Given the description of an element on the screen output the (x, y) to click on. 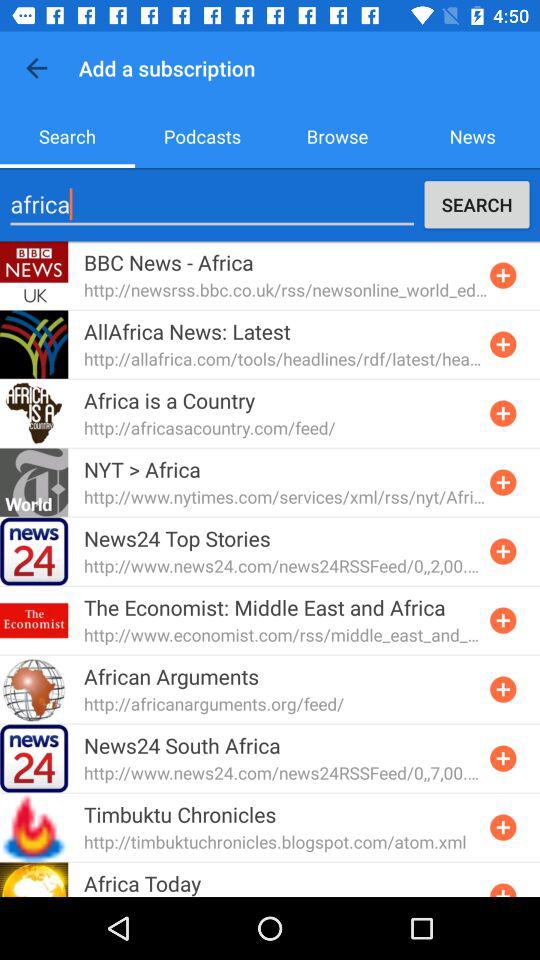
add subscription (503, 413)
